Given the description of an element on the screen output the (x, y) to click on. 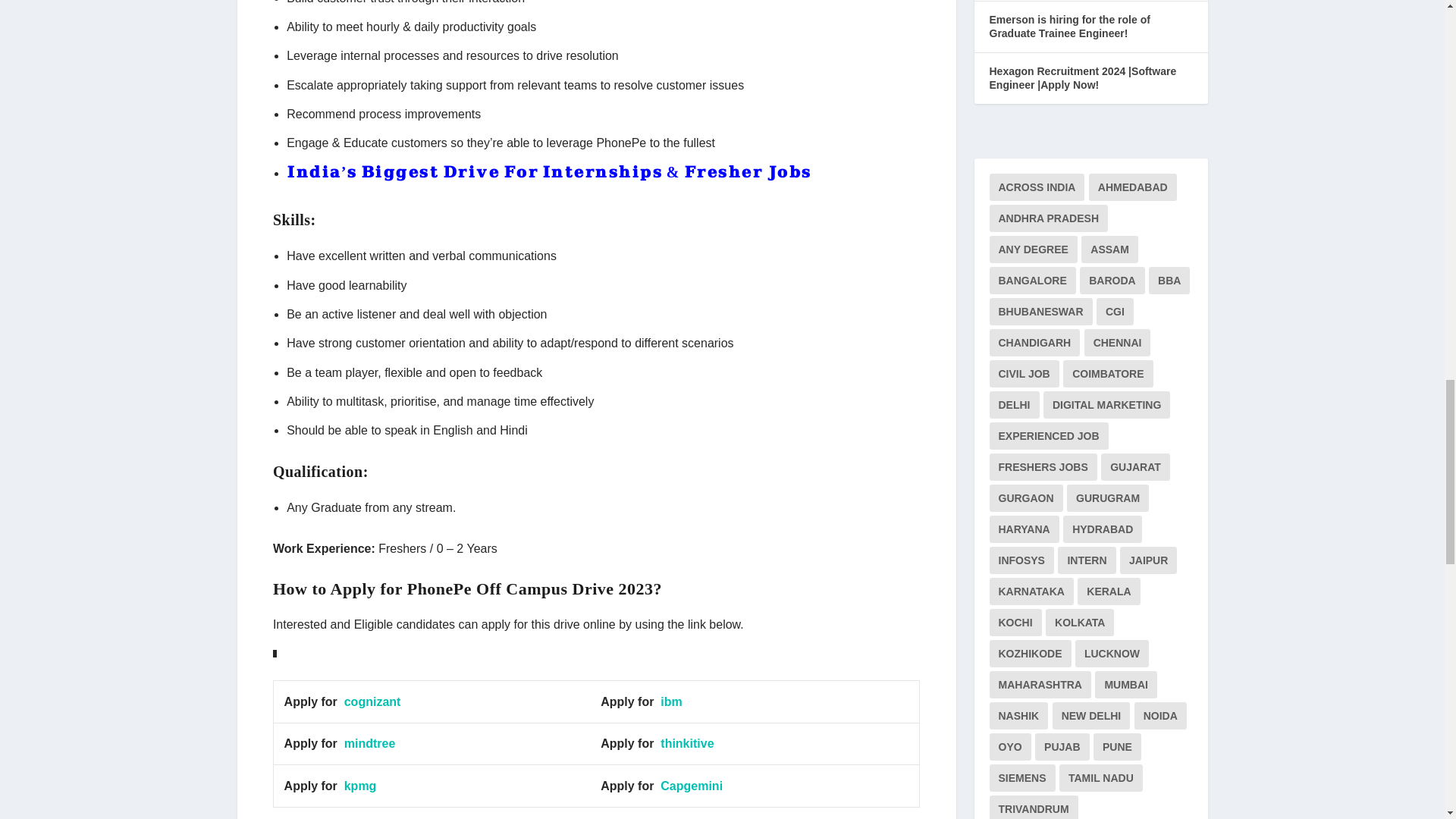
ibm (671, 701)
cognizant (372, 701)
kpmg (360, 785)
thinkitive (687, 743)
mindtree (369, 743)
Capgemini (691, 785)
